Given the description of an element on the screen output the (x, y) to click on. 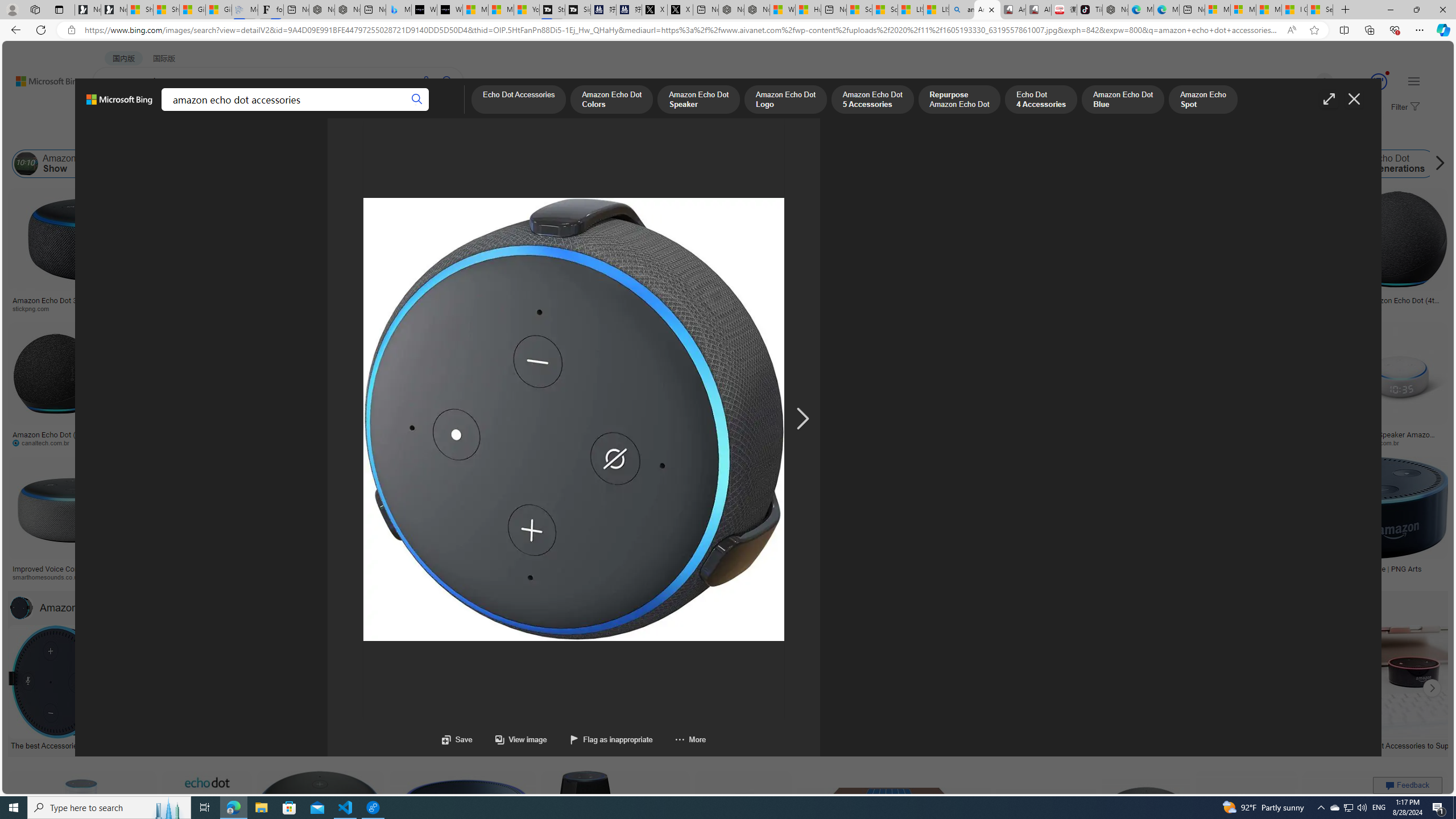
pixabay.com (1168, 308)
Alexa Dot Transparent Image | PNG Arts (1366, 568)
Save (457, 739)
Amazon Echo Show (25, 163)
Gilma and Hector both pose tropical trouble for Hawaii (217, 9)
Amazon Echo Dot 3 (1235, 163)
Date (336, 135)
More (690, 739)
Amazon Echo Dot 3rd (326, 163)
Address and search bar (680, 29)
15 Best Echo Dot Accessories You Can Buy (2020) | Beebom (683, 744)
